Given the description of an element on the screen output the (x, y) to click on. 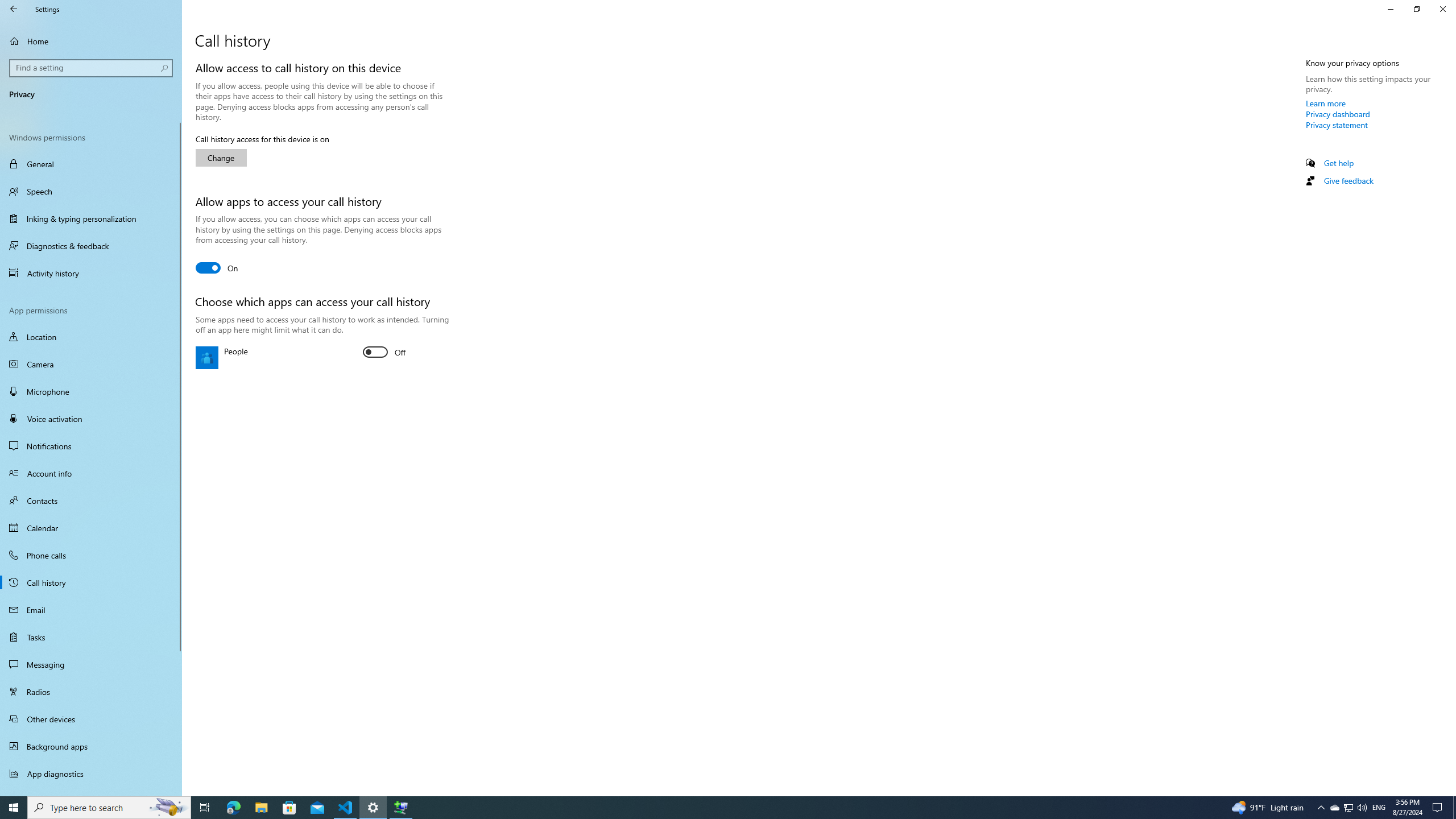
Phone calls (91, 554)
Email (91, 609)
Contacts (91, 500)
Activity history (91, 272)
Camera (91, 363)
Allow apps to access your call history (216, 267)
Privacy dashboard (1338, 113)
